Given the description of an element on the screen output the (x, y) to click on. 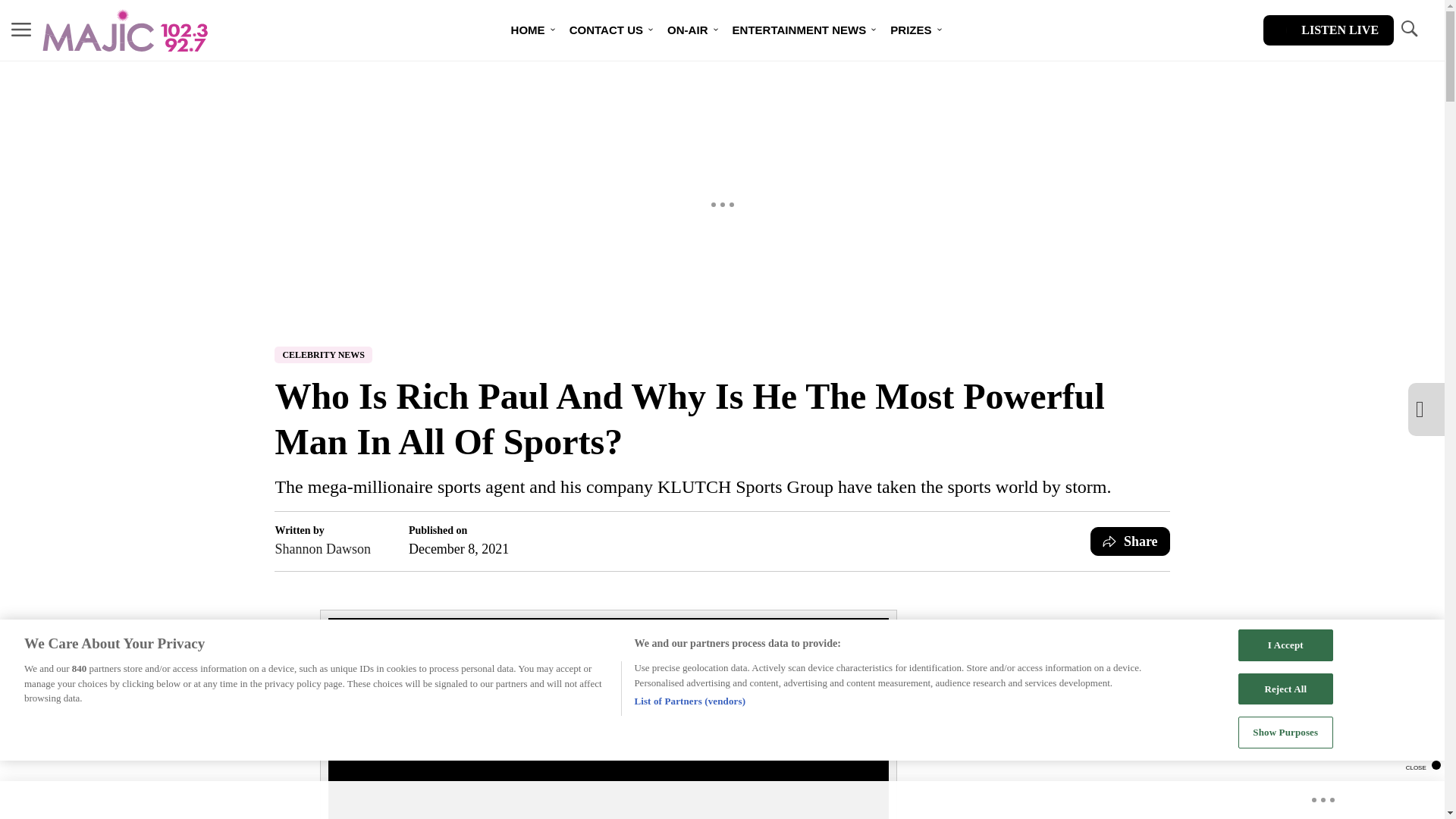
LISTEN LIVE (1328, 30)
MENU (20, 29)
Share (1130, 541)
TOGGLE SEARCH (1408, 28)
Shannon Dawson (323, 548)
MENU (20, 30)
ENTERTAINMENT NEWS (799, 30)
PRIZES (910, 30)
CONTACT US (606, 30)
ON-AIR (687, 30)
HOME (528, 30)
CELEBRITY NEWS (323, 354)
TOGGLE SEARCH (1408, 30)
